Given the description of an element on the screen output the (x, y) to click on. 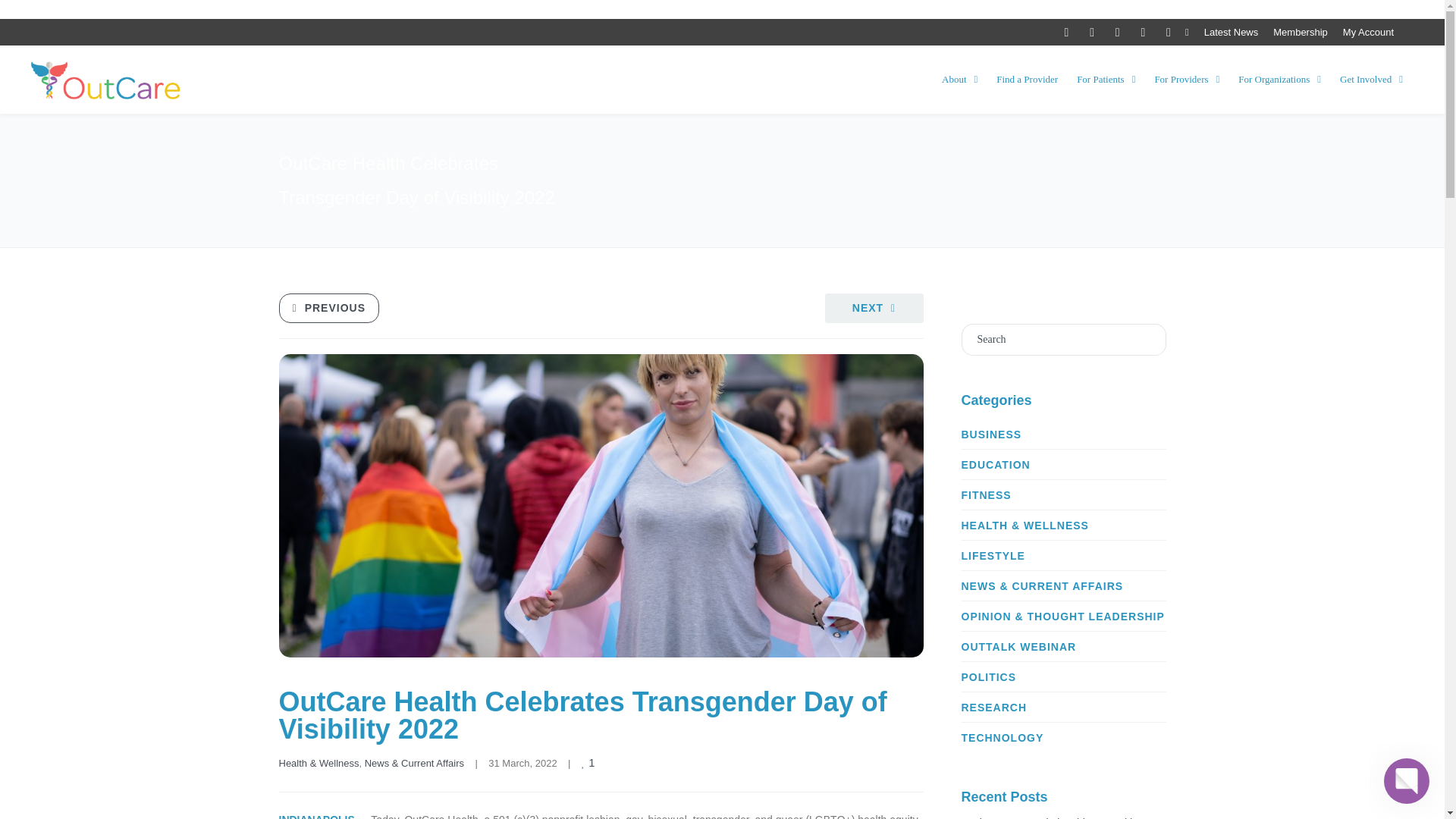
Find a Provider (1026, 79)
My Account (1367, 31)
OutCare (106, 79)
For Patients (1105, 79)
Latest News (1231, 31)
Membership (1299, 31)
For Providers (1187, 79)
